Given the description of an element on the screen output the (x, y) to click on. 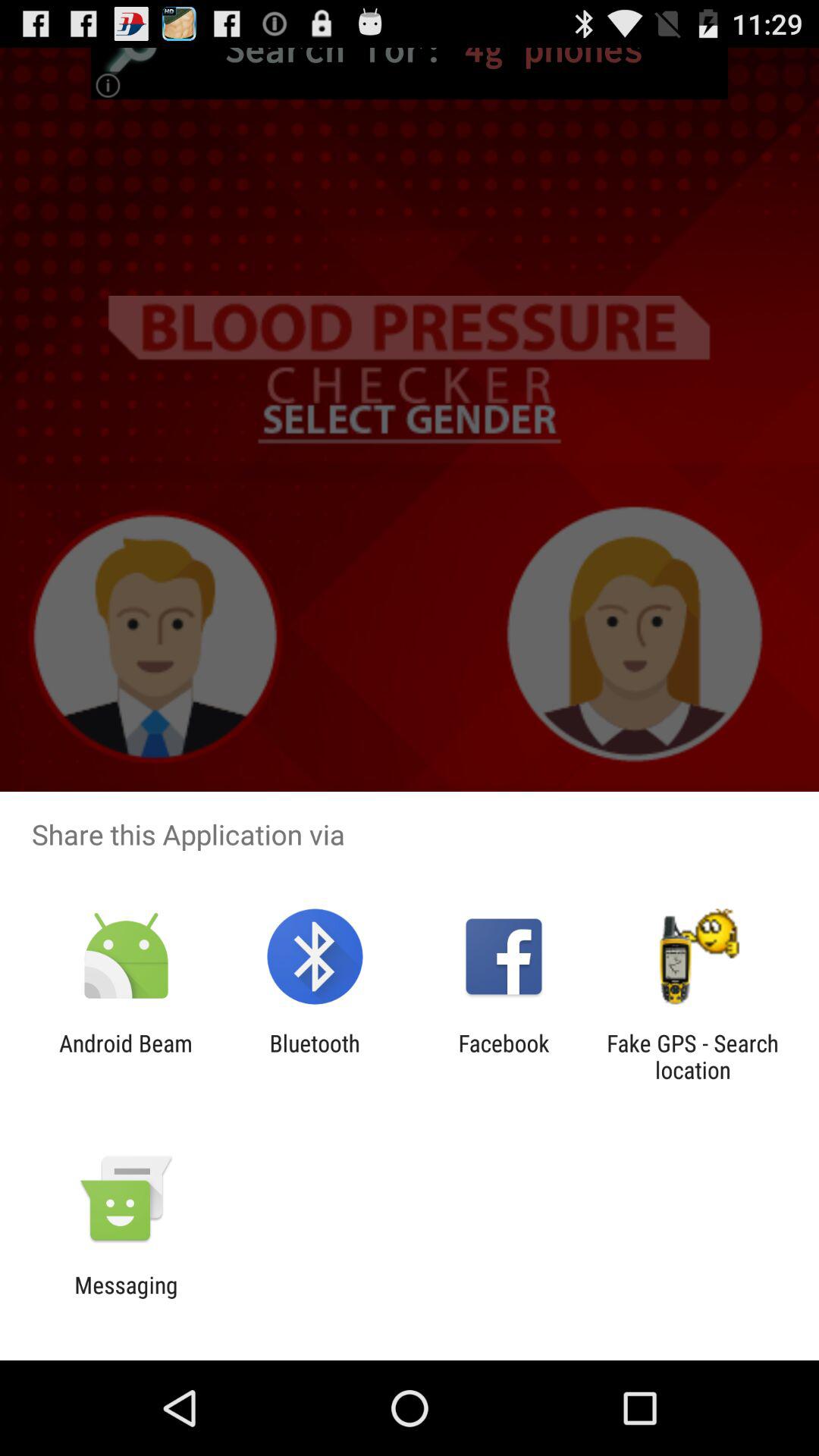
turn off icon next to the facebook (692, 1056)
